Given the description of an element on the screen output the (x, y) to click on. 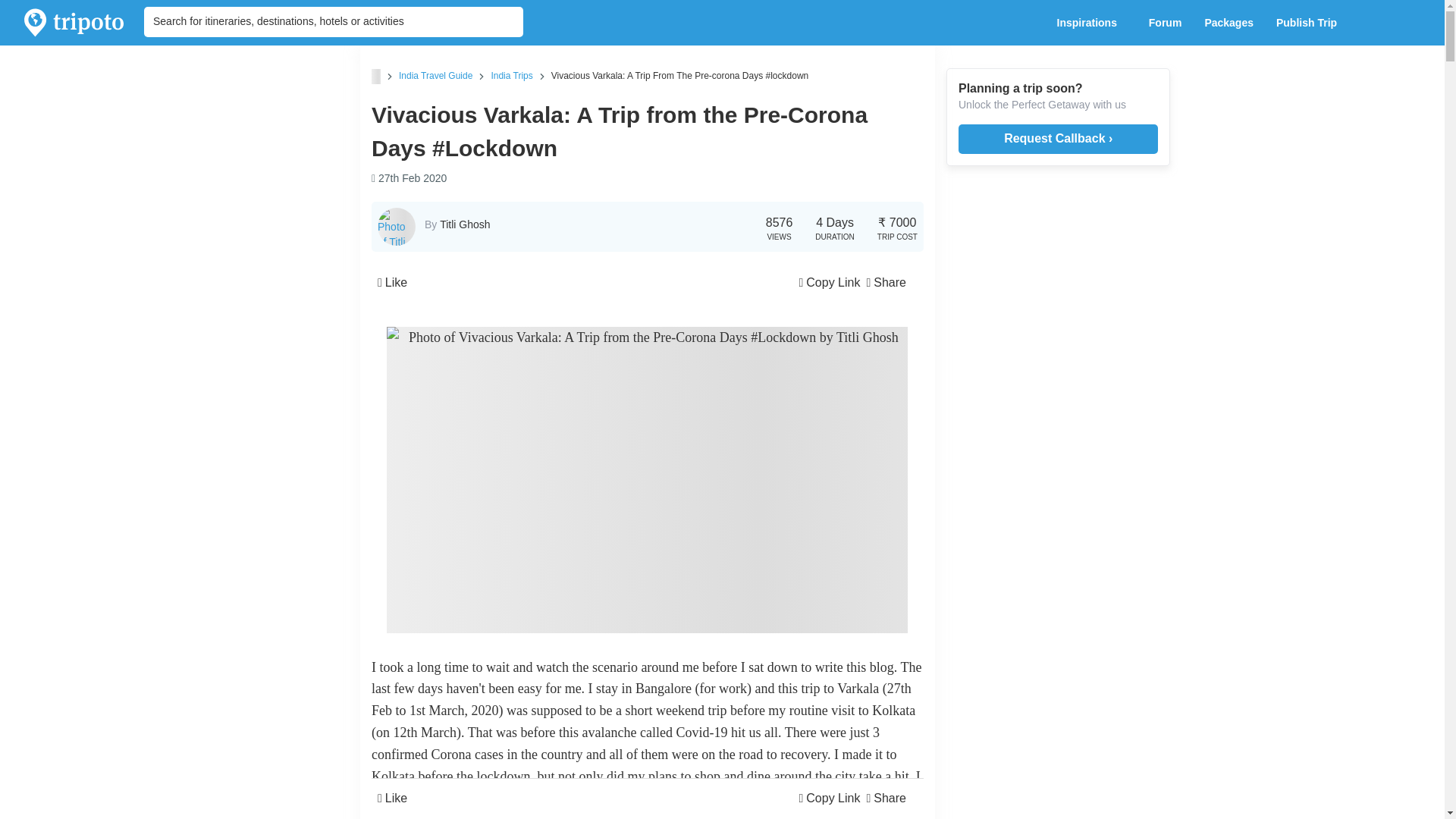
Forum (1165, 22)
Packages (1228, 22)
Packages (1228, 22)
Publish Trip (1310, 22)
Inspirations (1091, 22)
India Trips (511, 75)
Publish Trip  (1310, 22)
By Titli Ghosh (457, 223)
Tripoto: India's Largest Community of Travellers (73, 22)
India Travel Guide (434, 75)
Inspirations (1091, 22)
Forum (1165, 22)
